Given the description of an element on the screen output the (x, y) to click on. 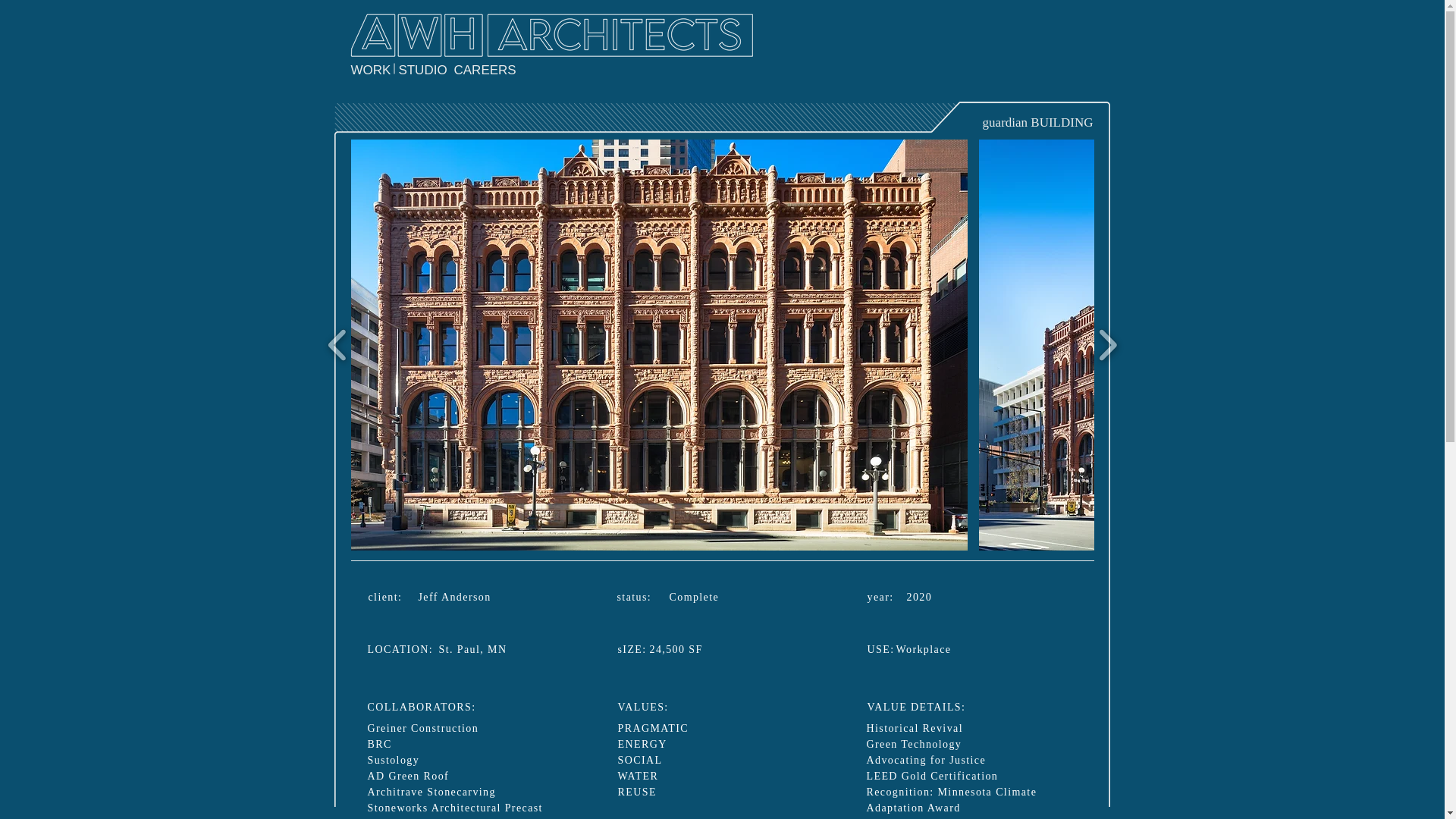
STUDIO (422, 70)
CAREERS (483, 70)
WORK (381, 70)
